Given the description of an element on the screen output the (x, y) to click on. 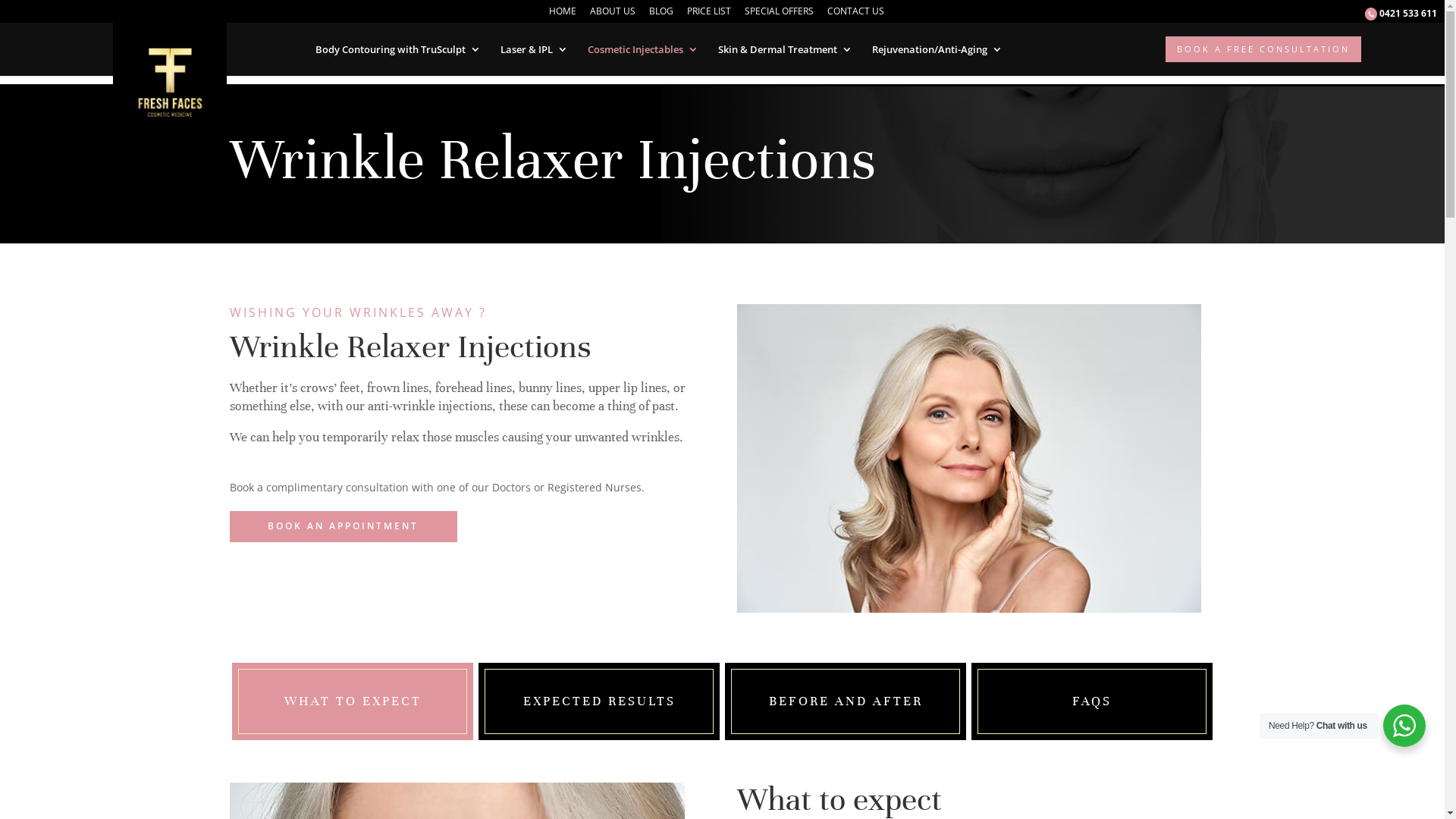
Laser & IPL Element type: text (533, 48)
BOOK A FREE CONSULTATION Element type: text (1262, 48)
FAQS Element type: text (1091, 701)
BOOK AN APPOINTMENT Element type: text (342, 526)
0421 533 611 Element type: text (1401, 17)
ABOUT US Element type: text (612, 14)
Body Contouring with TruSculpt Element type: text (397, 48)
PRICE LIST Element type: text (709, 14)
WHAT TO EXPECT Element type: text (351, 701)
EXPECTED RESULTS Element type: text (599, 701)
Rejuvenation/Anti-Aging Element type: text (937, 48)
BLOG Element type: text (661, 14)
Cosmetic Injectables Element type: text (641, 48)
CONTACT US Element type: text (855, 14)
wrinkle-relaxer-perth-main Element type: hover (969, 458)
SPECIAL OFFERS Element type: text (778, 14)
HOME Element type: text (562, 14)
BEFORE AND AFTER Element type: text (845, 701)
Skin & Dermal Treatment Element type: text (784, 48)
